Given the description of an element on the screen output the (x, y) to click on. 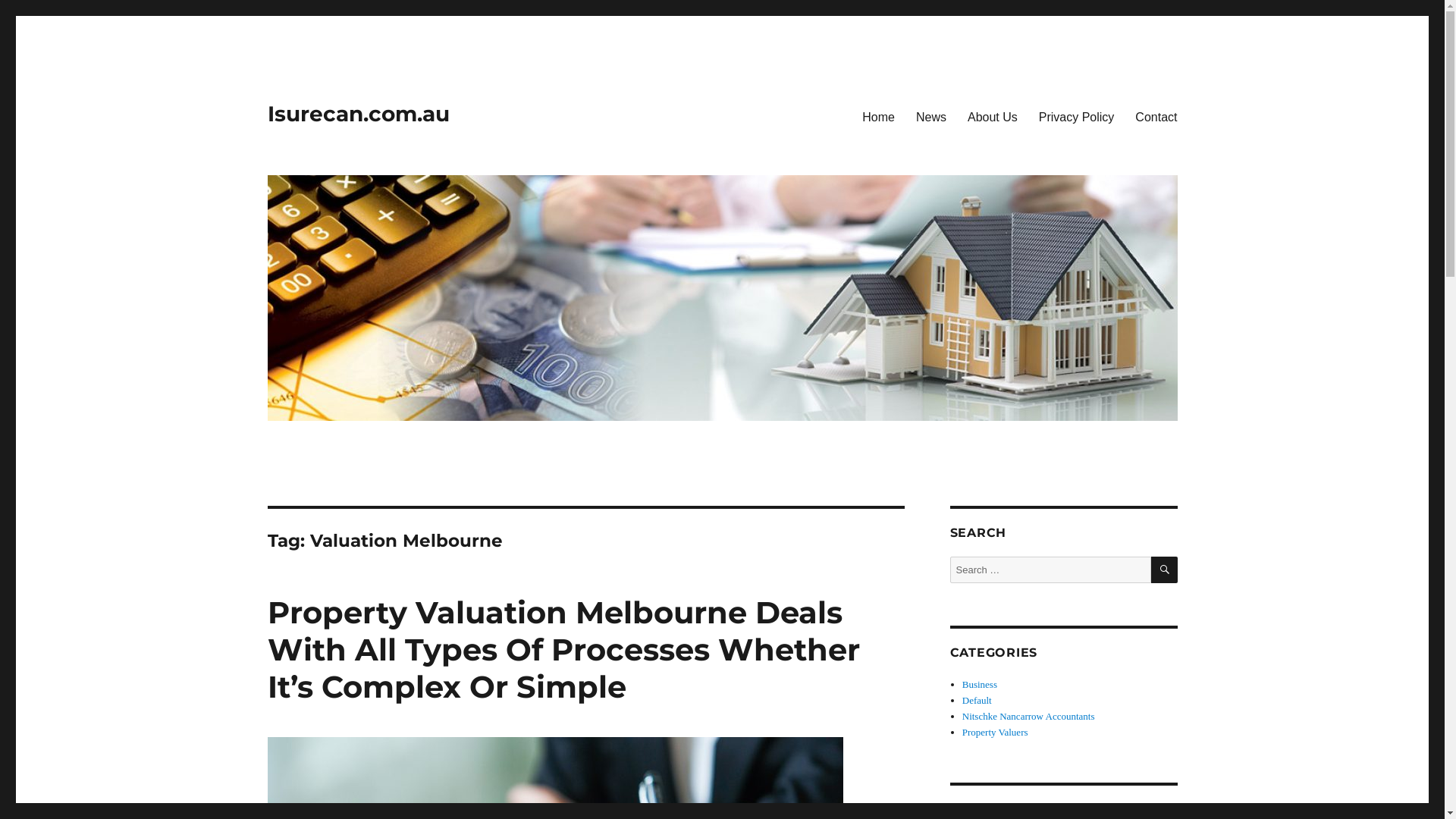
About Us Element type: text (992, 116)
Business Element type: text (979, 684)
Privacy Policy Element type: text (1076, 116)
News Element type: text (931, 116)
Home Element type: text (878, 116)
Default Element type: text (976, 700)
Contact Element type: text (1155, 116)
Nitschke Nancarrow Accountants Element type: text (1028, 715)
Property Valuers Element type: text (995, 731)
Isurecan.com.au Element type: text (357, 113)
SEARCH Element type: text (1164, 569)
